Given the description of an element on the screen output the (x, y) to click on. 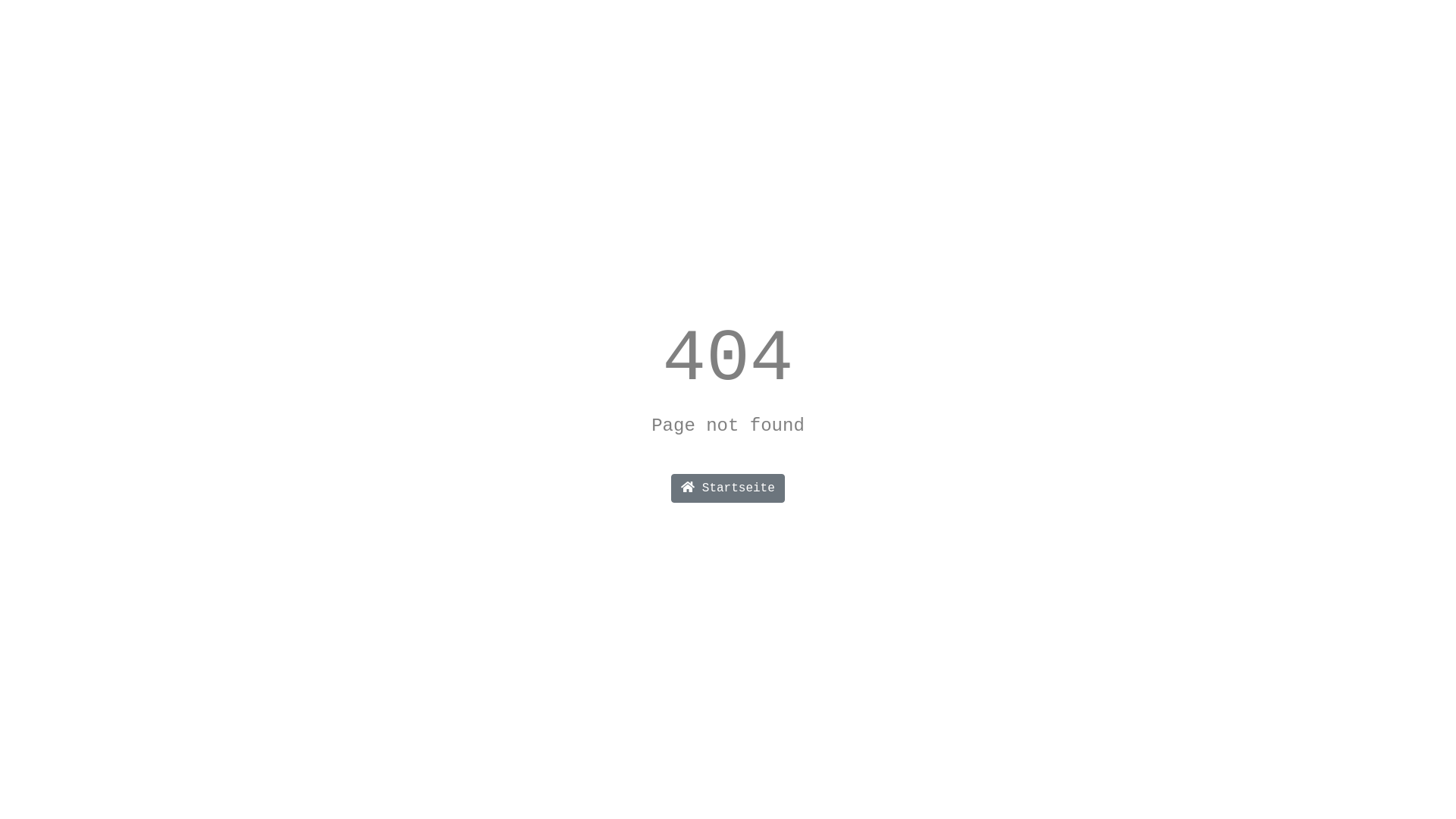
Startseite Element type: text (727, 487)
